Given the description of an element on the screen output the (x, y) to click on. 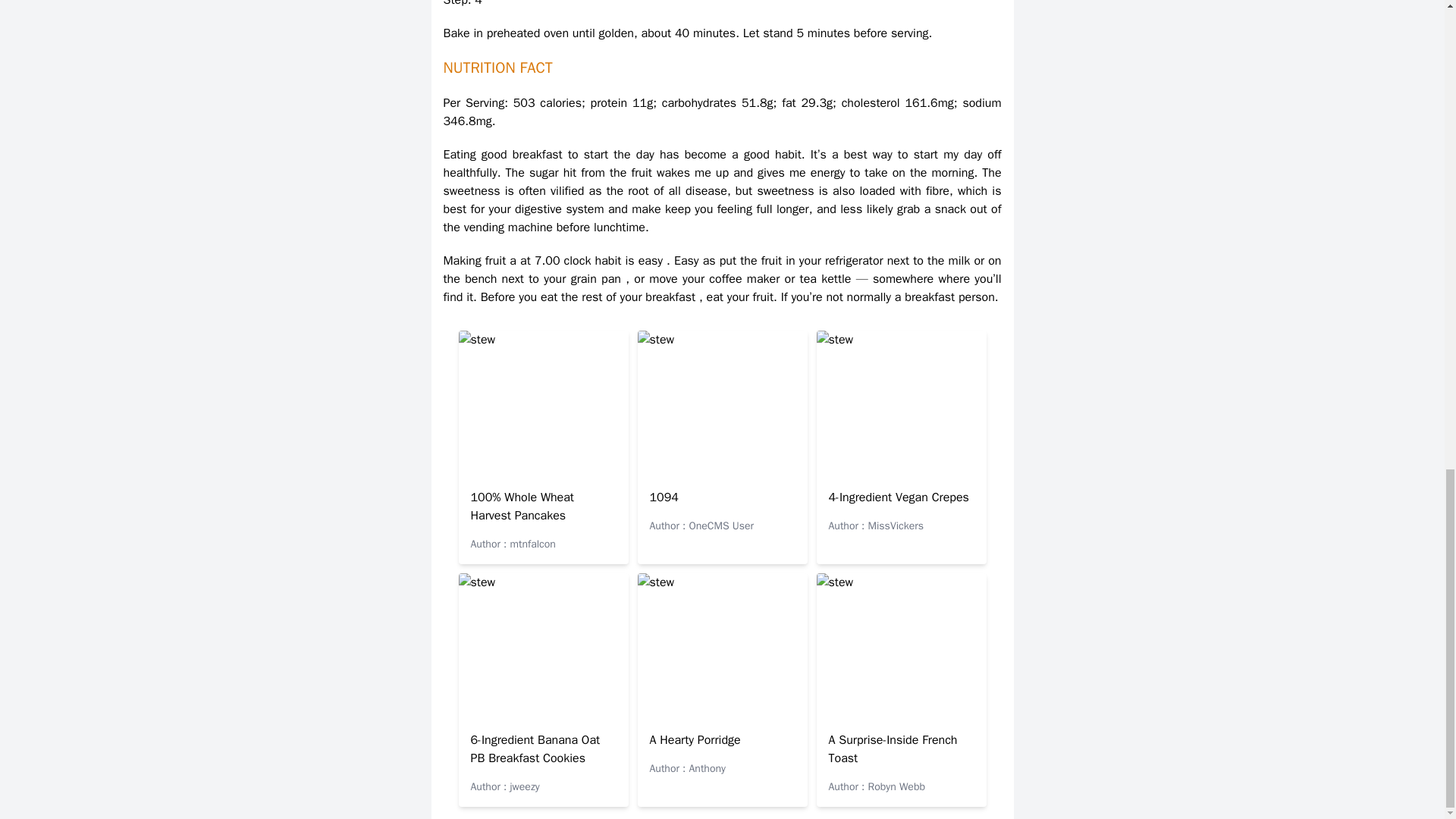
6-Ingredient Banana Oat PB Breakfast Cookies (534, 748)
A Surprise-Inside French Toast (892, 748)
A Hearty Porridge (694, 739)
4-Ingredient Vegan Crepes (898, 497)
1094 (663, 497)
